Given the description of an element on the screen output the (x, y) to click on. 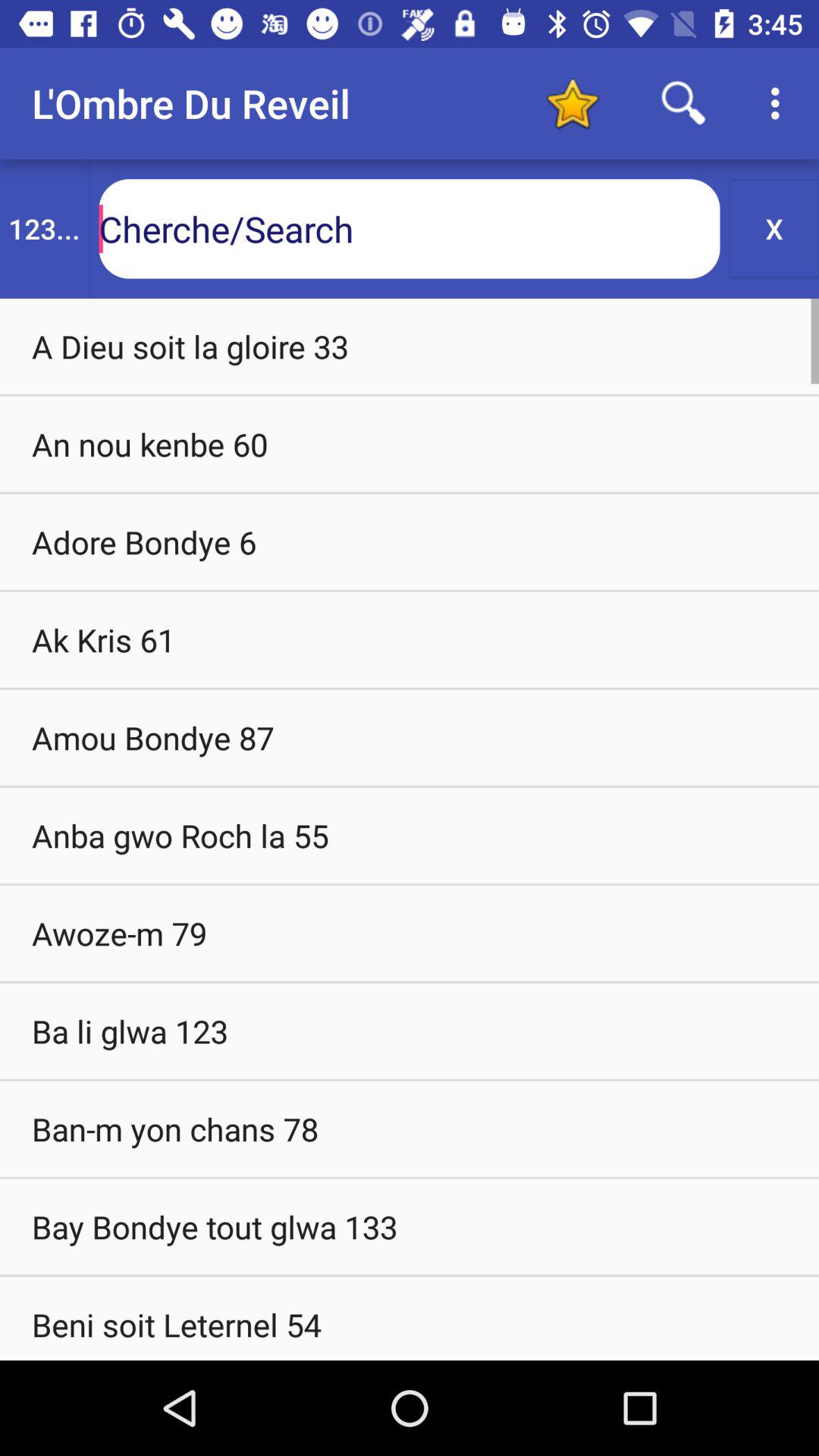
click the adore bondye 6 item (409, 541)
